Given the description of an element on the screen output the (x, y) to click on. 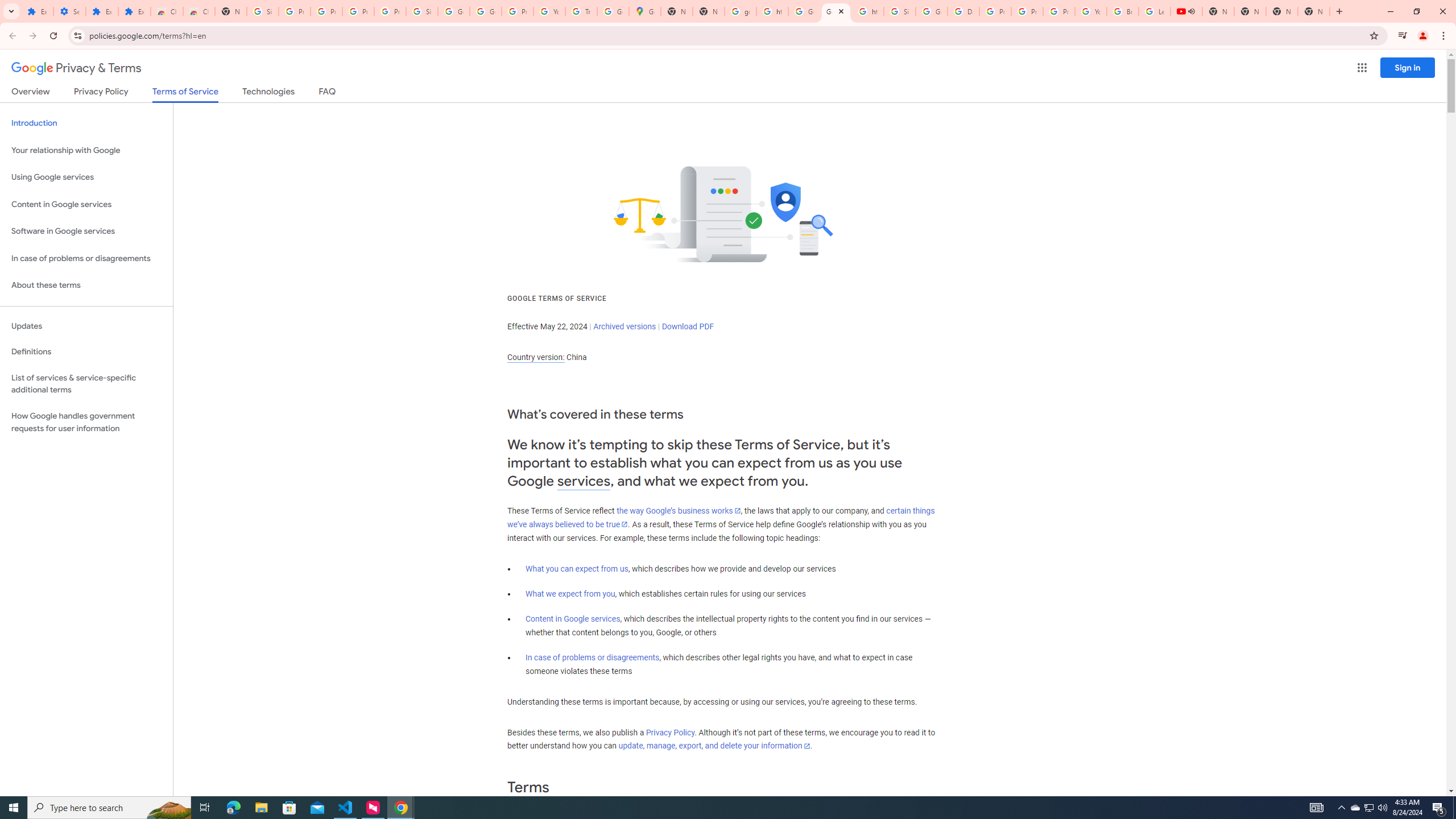
Country version: (535, 357)
Extensions (37, 11)
Your relationship with Google (86, 150)
Chrome Web Store (166, 11)
Sign in - Google Accounts (262, 11)
New Tab (230, 11)
